Given the description of an element on the screen output the (x, y) to click on. 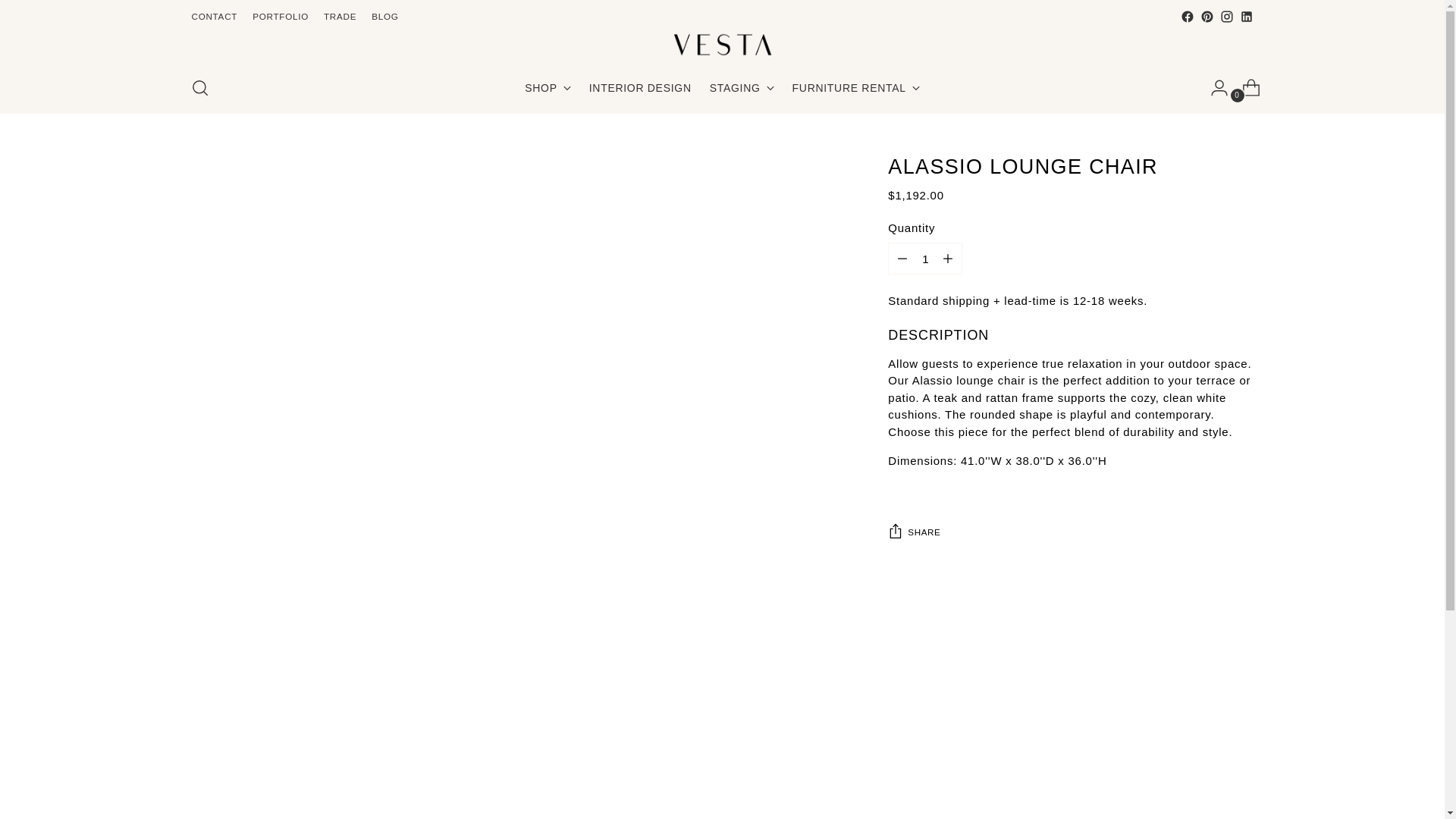
CONTACT (213, 16)
1 (925, 258)
SHOP (547, 87)
SHOP (722, 87)
PORTFOLIO (540, 88)
TRADE (279, 16)
